Given the description of an element on the screen output the (x, y) to click on. 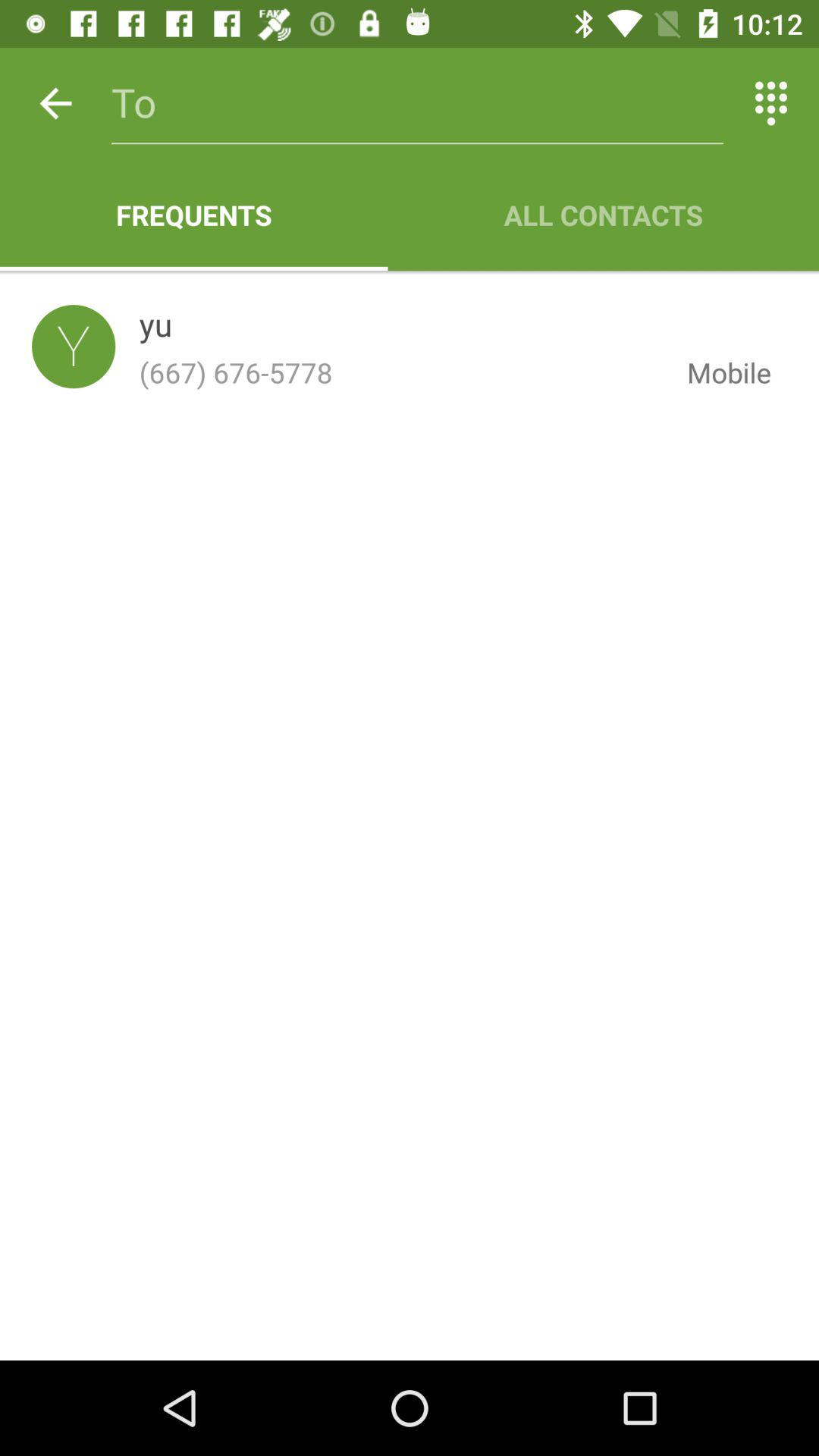
tap the icon to the left of mobile icon (155, 327)
